Given the description of an element on the screen output the (x, y) to click on. 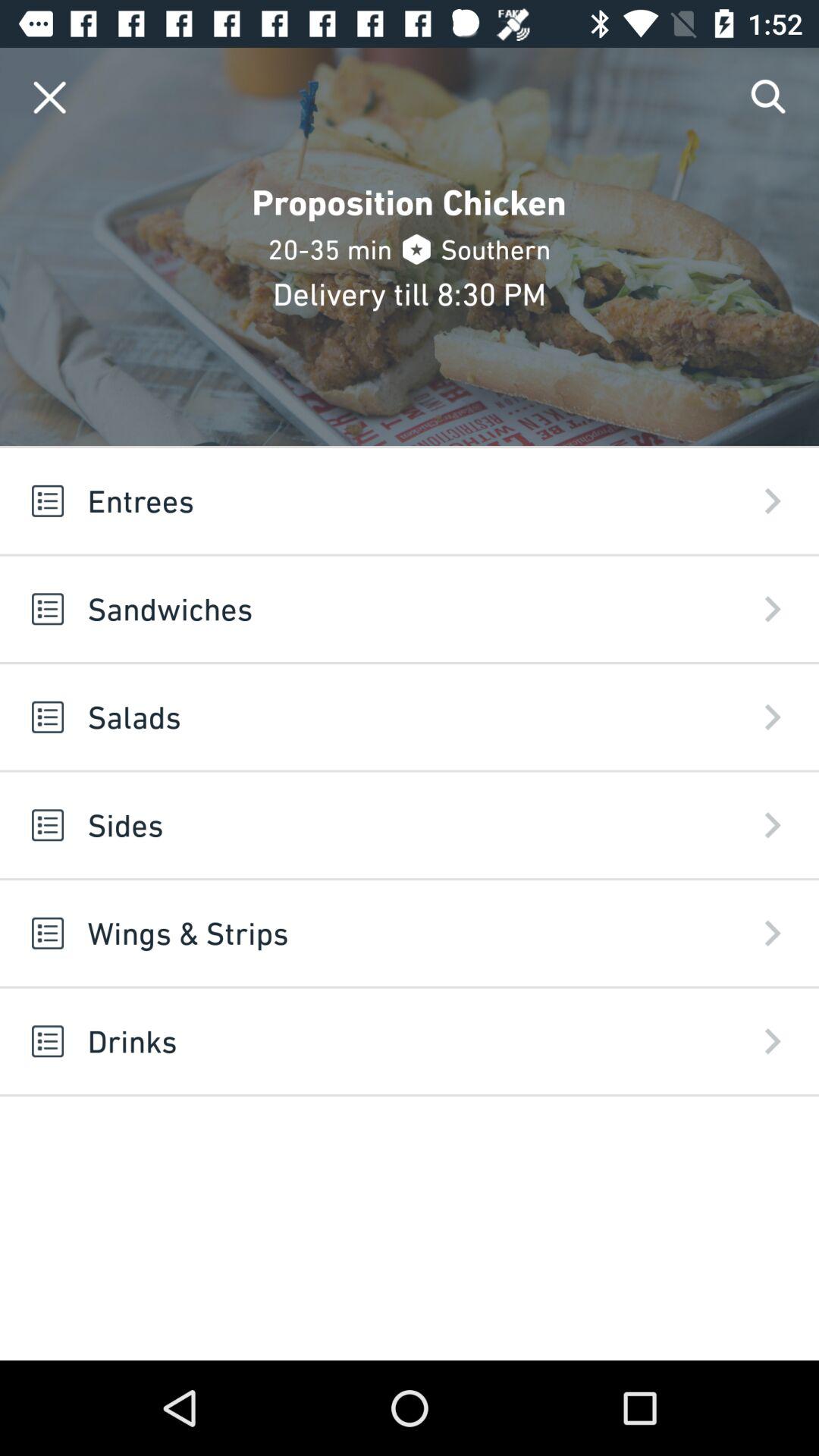
search icon (769, 97)
